Given the description of an element on the screen output the (x, y) to click on. 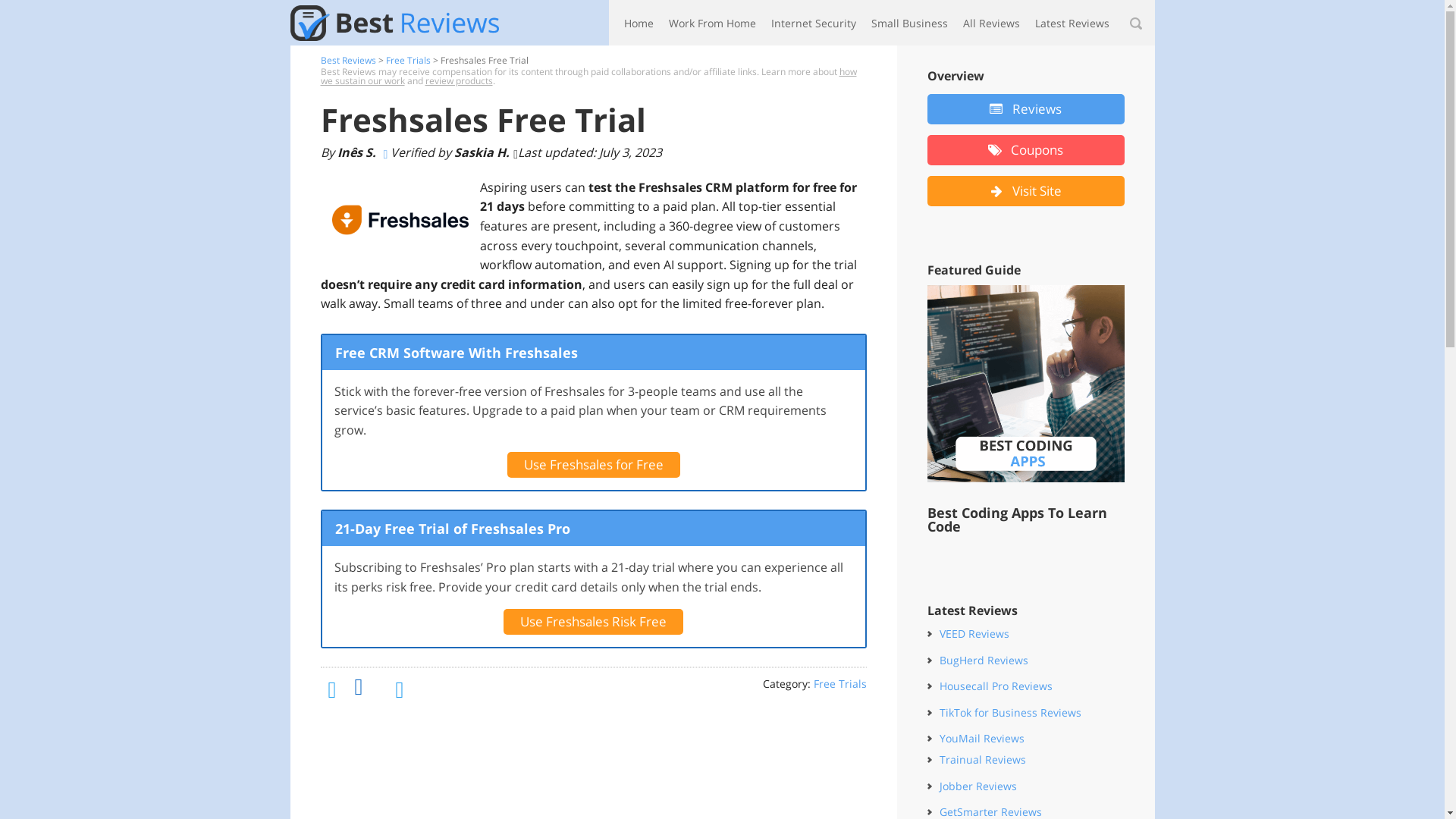
Home (638, 23)
Best Reviews (347, 60)
Work From Home (711, 23)
Latest Reviews (1071, 23)
review products (458, 80)
Free Trials (839, 683)
Small Business (909, 23)
Use Freshsales Risk Free (592, 621)
Use Freshsales for Free (592, 464)
Internet Security Software (812, 23)
All Reviews (991, 23)
how we sustain our work (588, 75)
All Reviews (991, 23)
Latest Reviews (1071, 23)
Internet Security (812, 23)
